Given the description of an element on the screen output the (x, y) to click on. 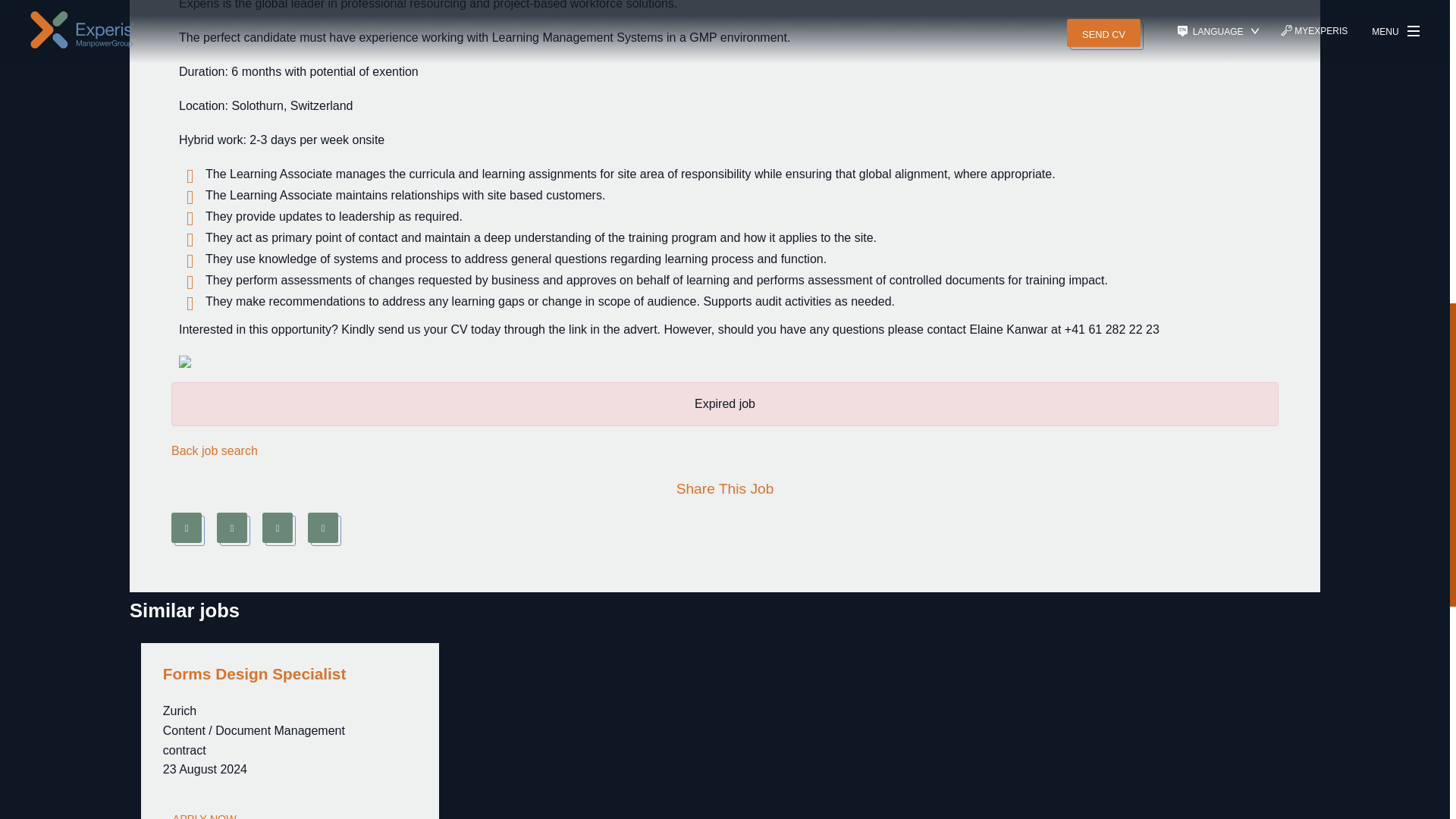
APPLY NOW (204, 813)
Back job search (214, 449)
